Given the description of an element on the screen output the (x, y) to click on. 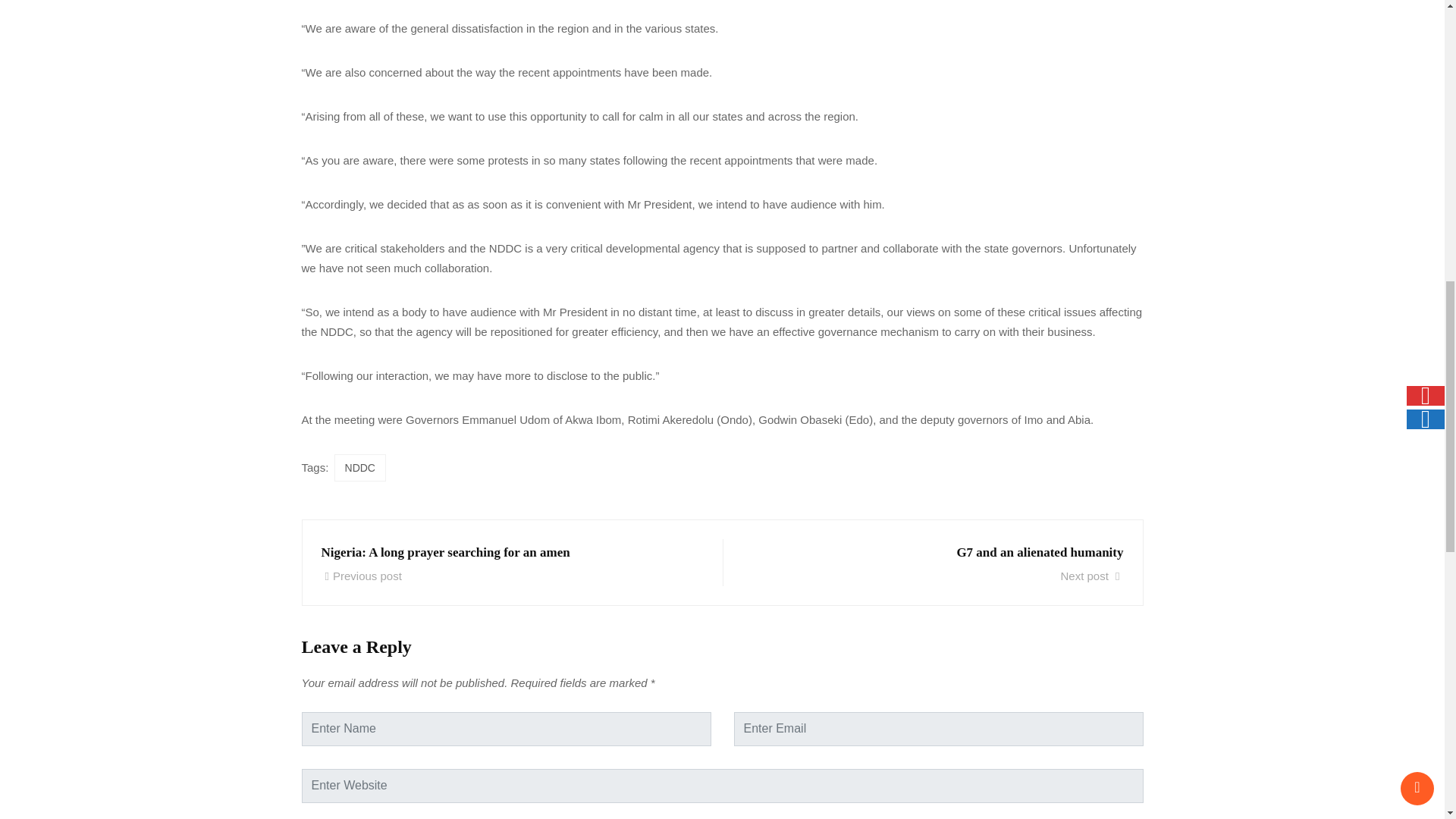
NDDC (507, 562)
